Given the description of an element on the screen output the (x, y) to click on. 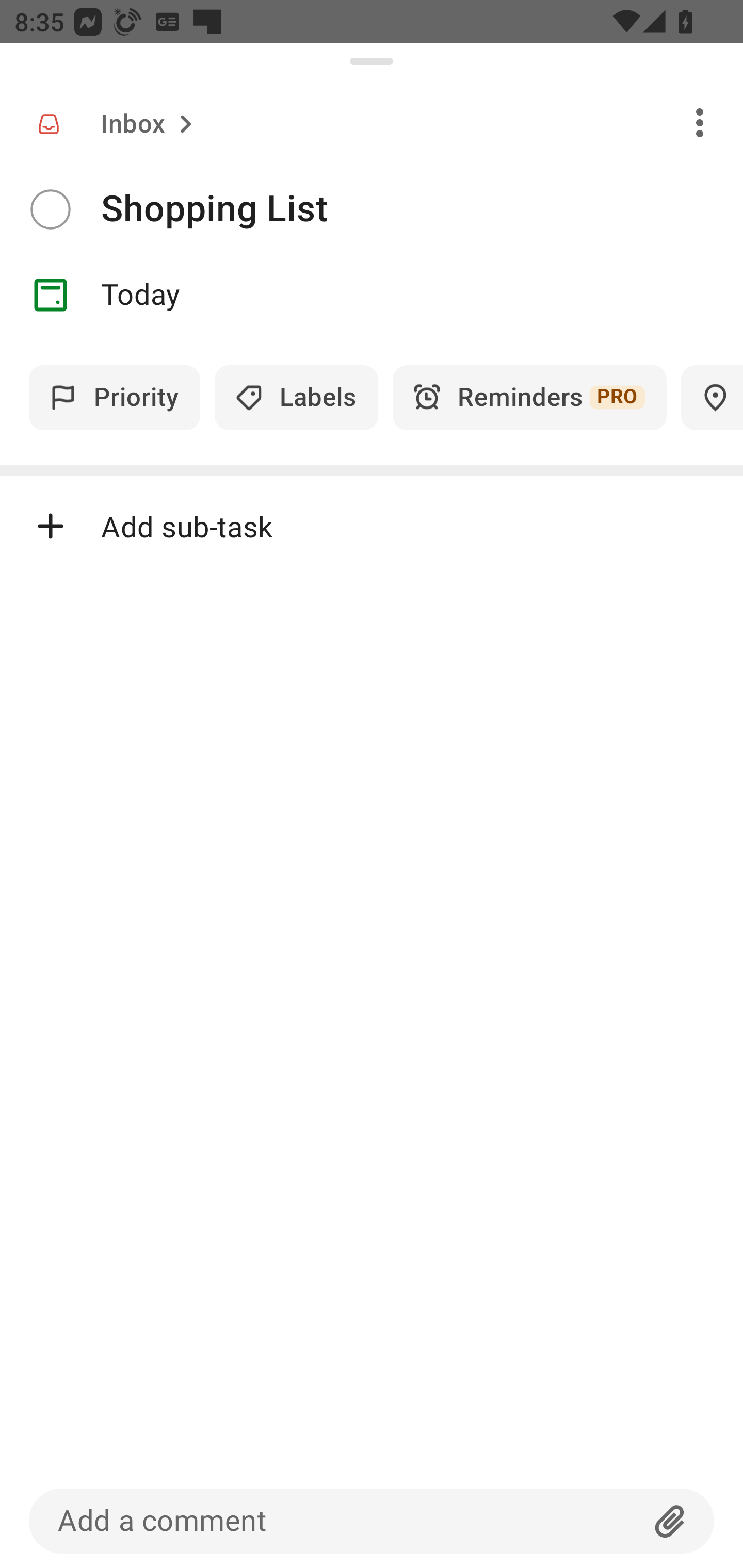
Overflow menu (699, 122)
Complete (50, 209)
Shopping List​ (422, 209)
Date Today (371, 295)
Priority (113, 397)
Labels (296, 397)
Reminders PRO (529, 397)
Locations PRO (712, 397)
Add sub-task (371, 525)
Add a comment Attachment (371, 1520)
Attachment (670, 1520)
